Given the description of an element on the screen output the (x, y) to click on. 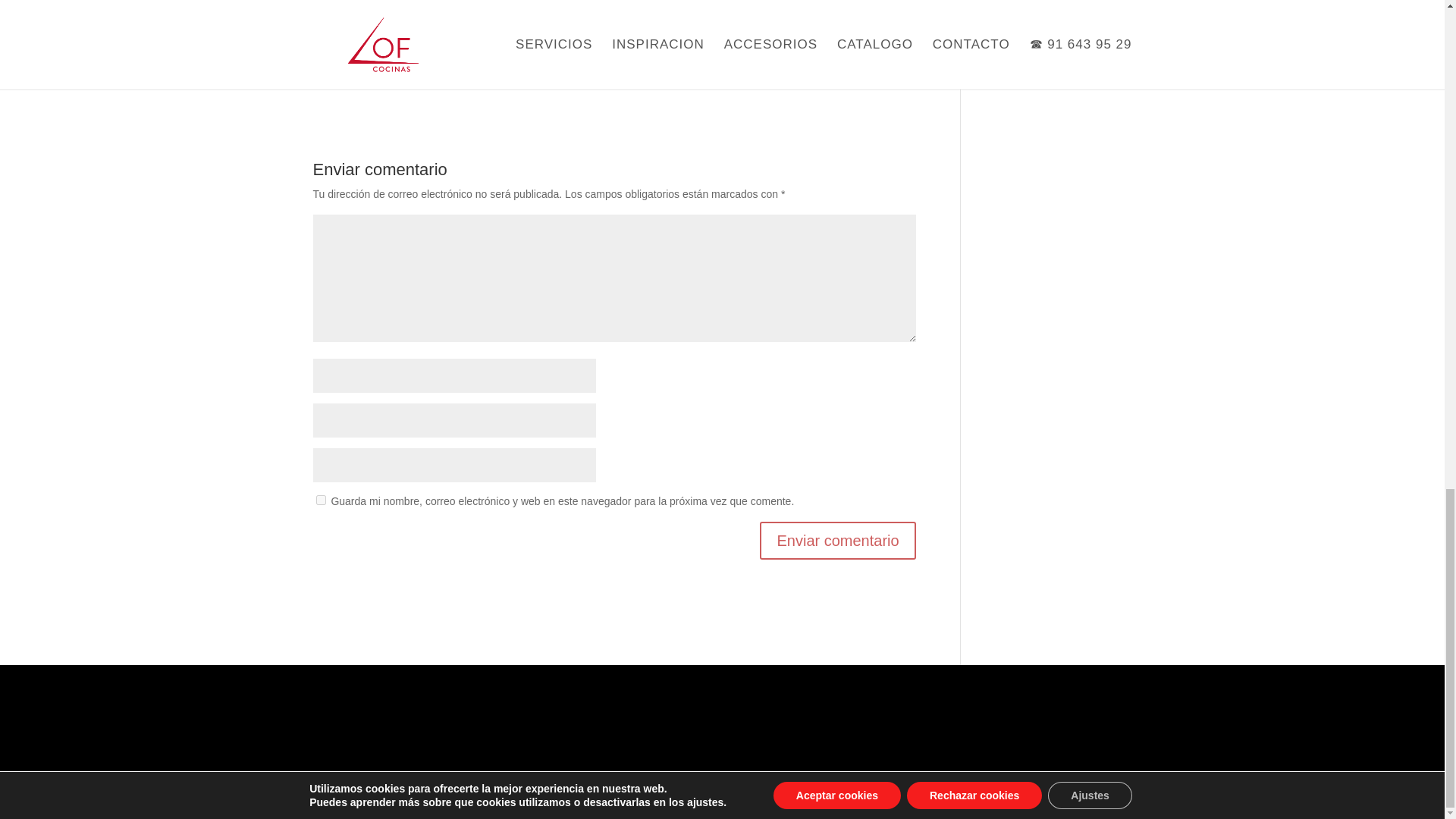
Enviar comentario (837, 540)
yes (319, 500)
Enviar comentario (837, 540)
